Given the description of an element on the screen output the (x, y) to click on. 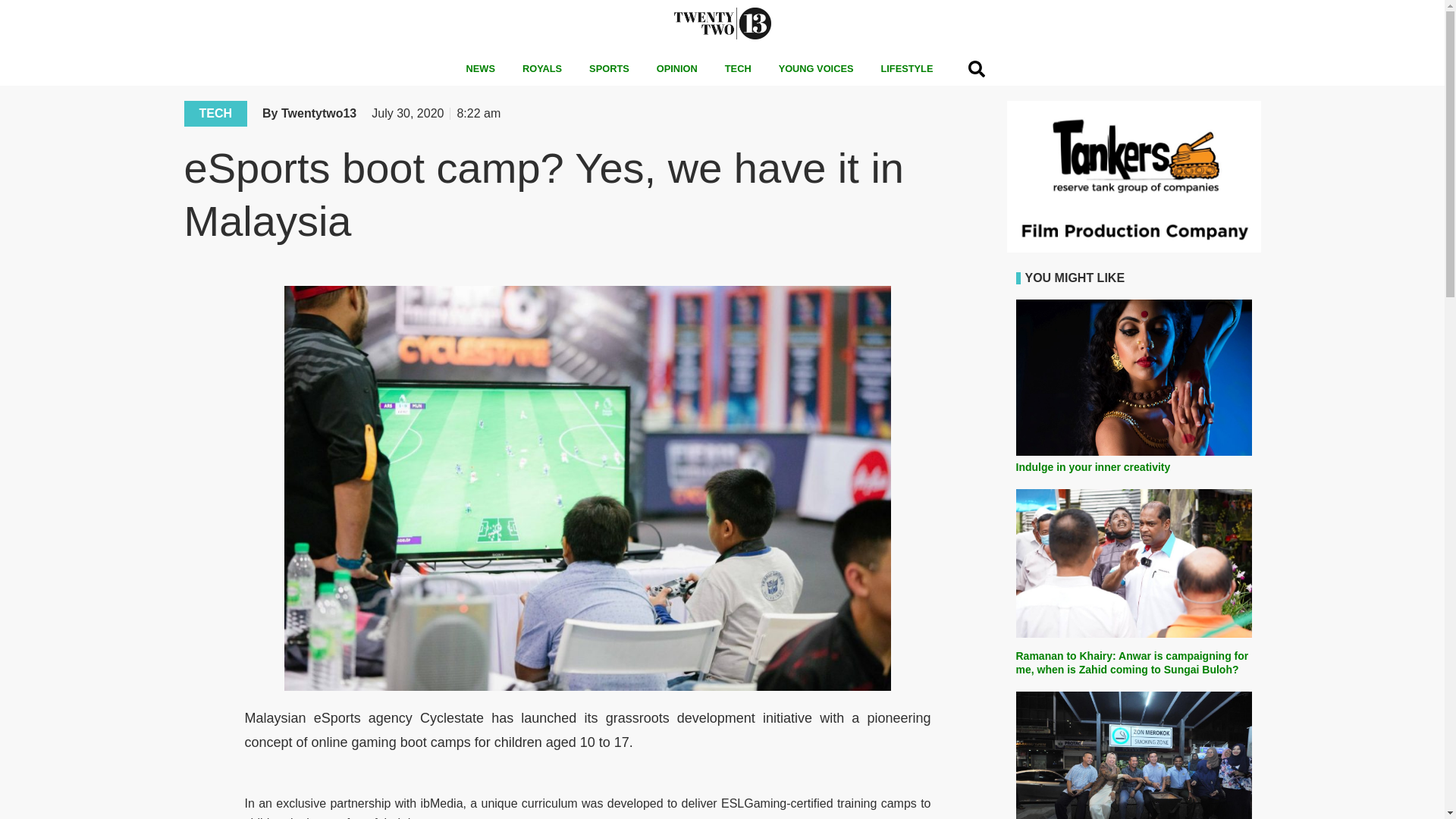
By Twentytwo13 (309, 113)
OPINION (677, 68)
ROYALS (541, 68)
Indulge in your inner creativity (1093, 467)
SPORTS (609, 68)
LIFESTYLE (906, 68)
NEWS (480, 68)
TECH (738, 68)
YOU MIGHT LIKE (1075, 277)
